Given the description of an element on the screen output the (x, y) to click on. 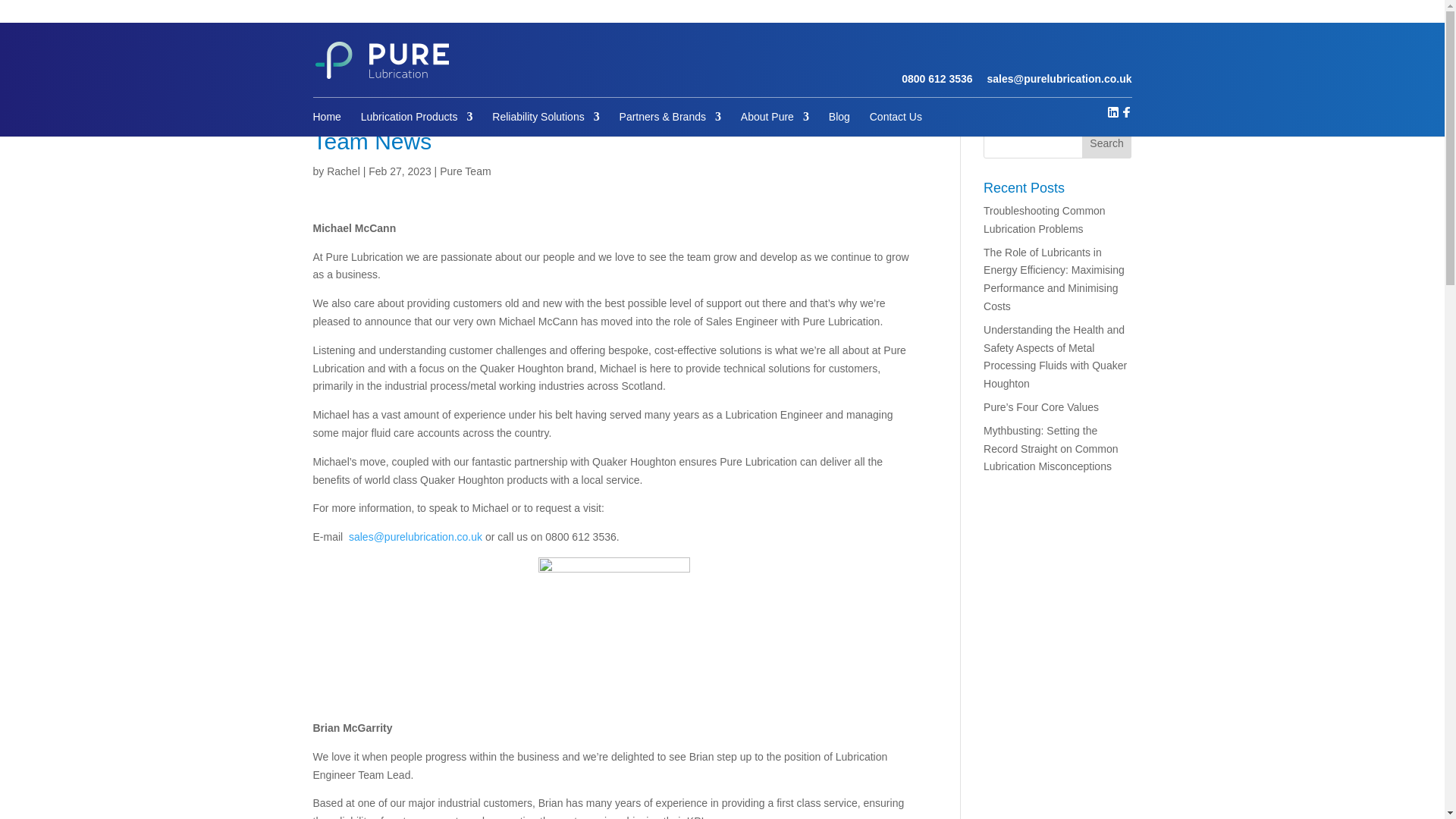
About Pure (775, 116)
Search (1106, 142)
Home (326, 116)
Lubrication Products (417, 116)
Posts by Rachel (342, 171)
Reliability Solutions (545, 116)
0800 612 3536 (936, 78)
